Given the description of an element on the screen output the (x, y) to click on. 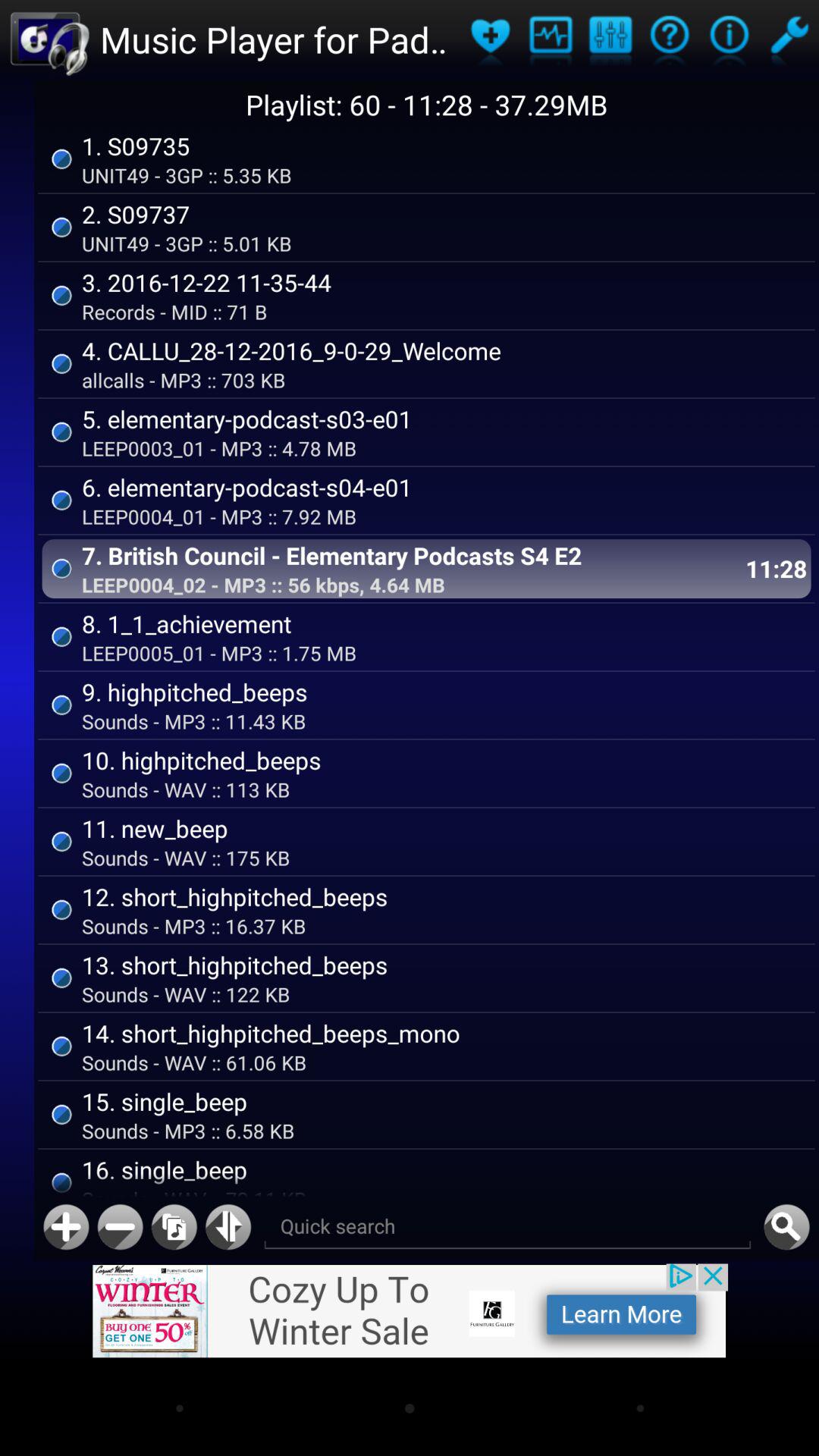
remove track (120, 1226)
